Given the description of an element on the screen output the (x, y) to click on. 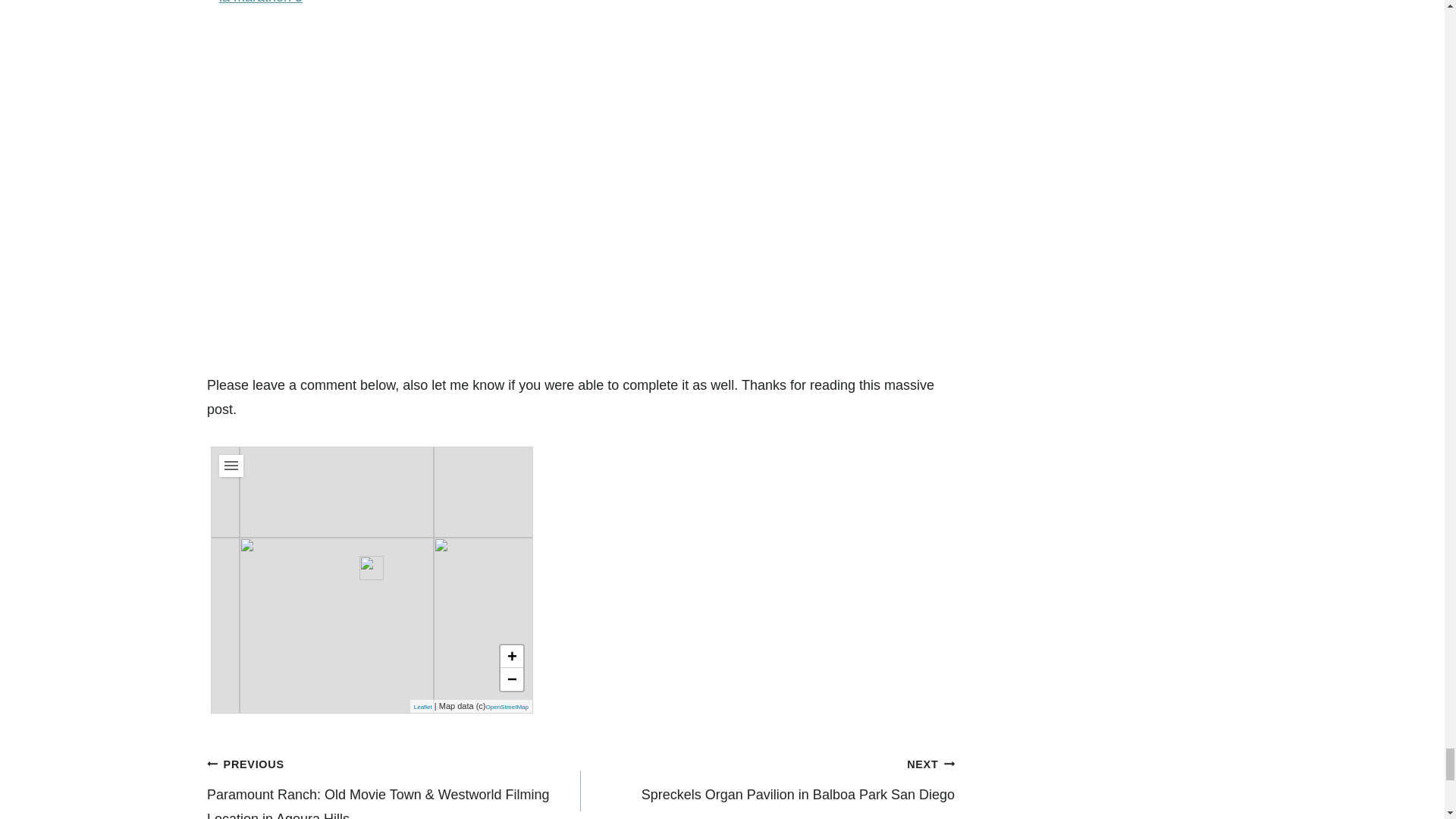
A JS library for interactive maps (422, 706)
Menu (231, 465)
La Marathon Run (371, 567)
